Given the description of an element on the screen output the (x, y) to click on. 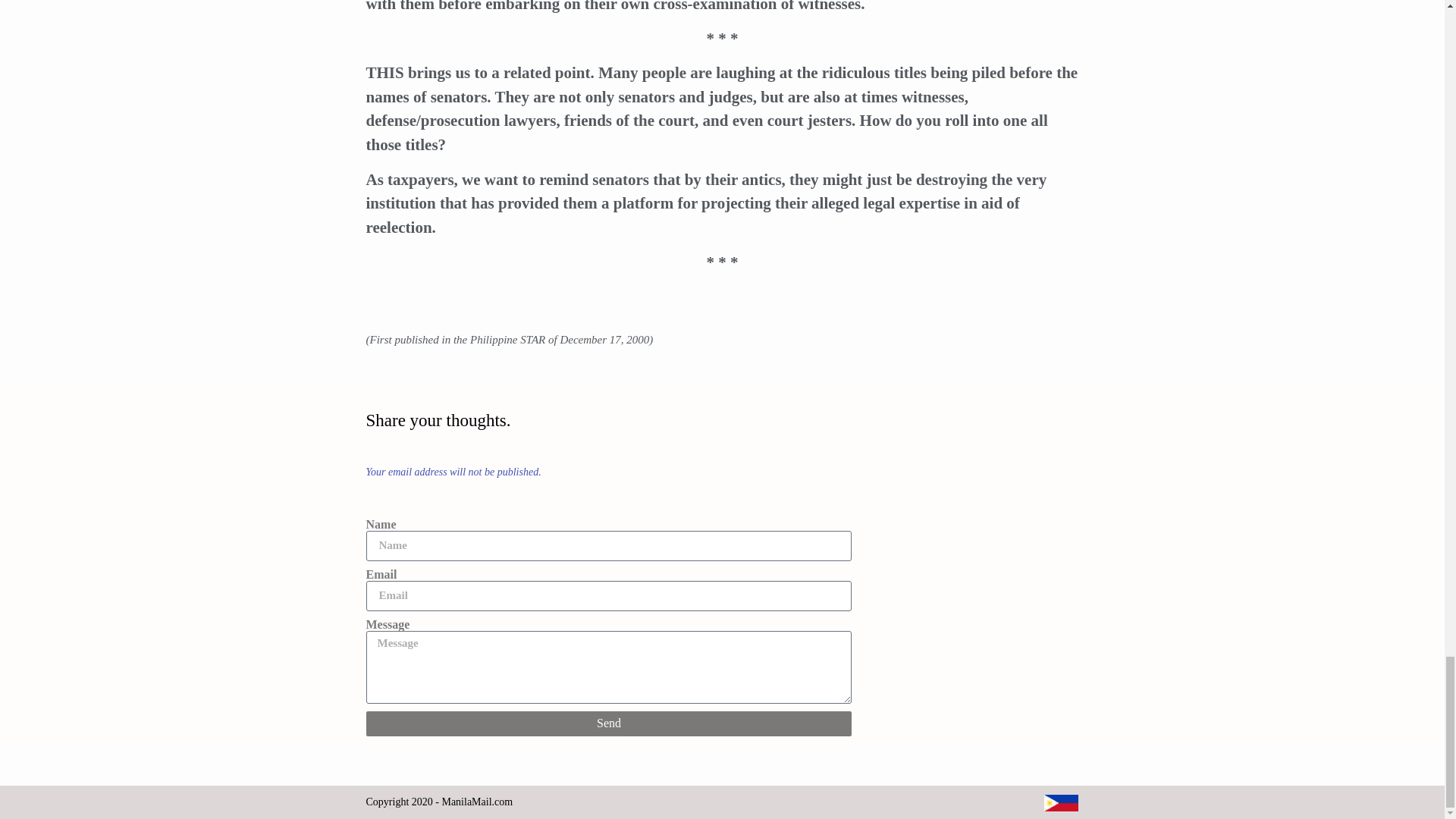
Send (608, 723)
